Given the description of an element on the screen output the (x, y) to click on. 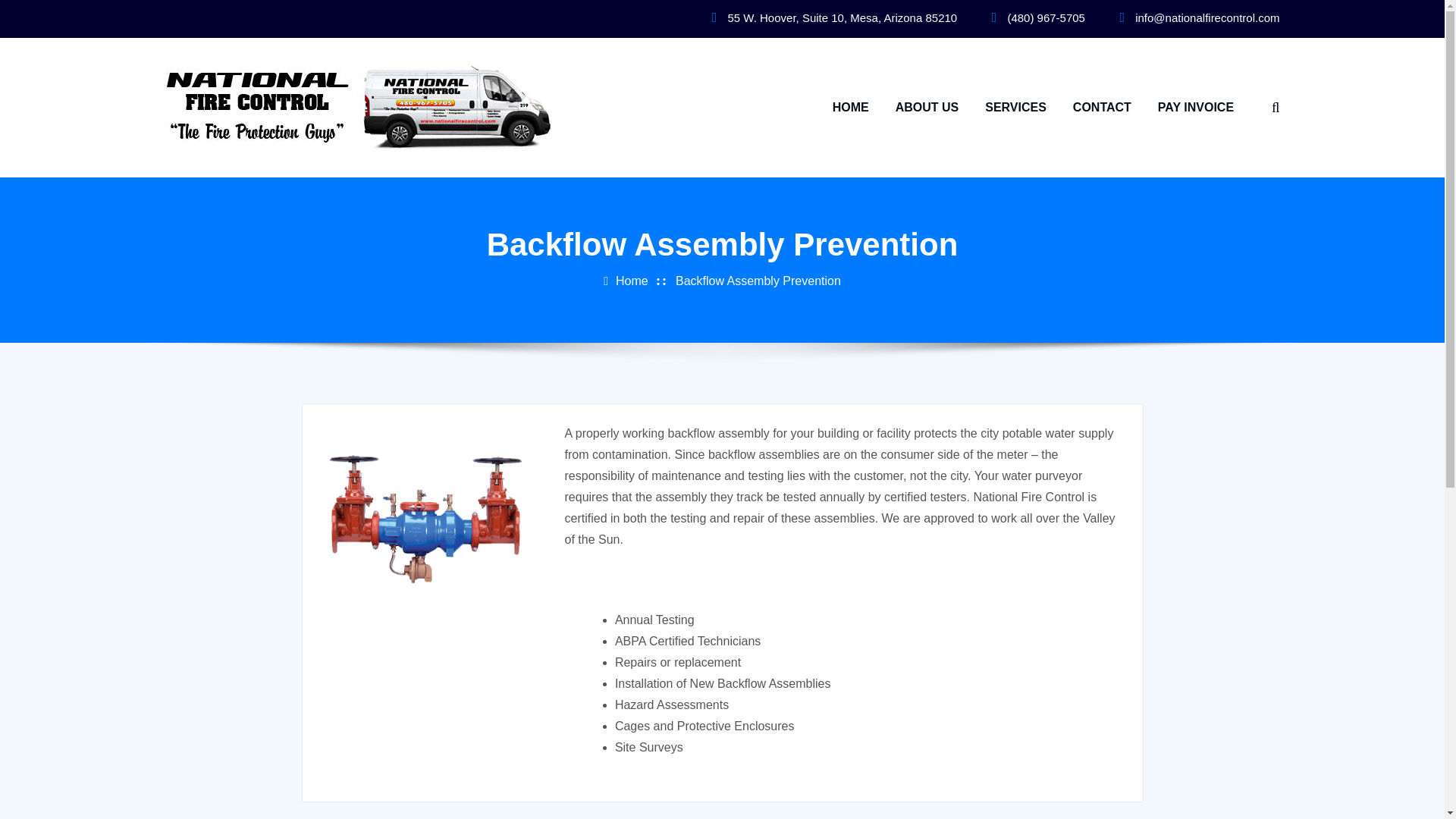
55 W. Hoover, Suite 10, Mesa, Arizona 85210 (843, 17)
CONTACT (1102, 107)
SERVICES (1015, 107)
Backflow Assembly Prevention (758, 280)
HOME (850, 107)
ABOUT US (927, 107)
PAY INVOICE (1195, 107)
Home (631, 280)
